Given the description of an element on the screen output the (x, y) to click on. 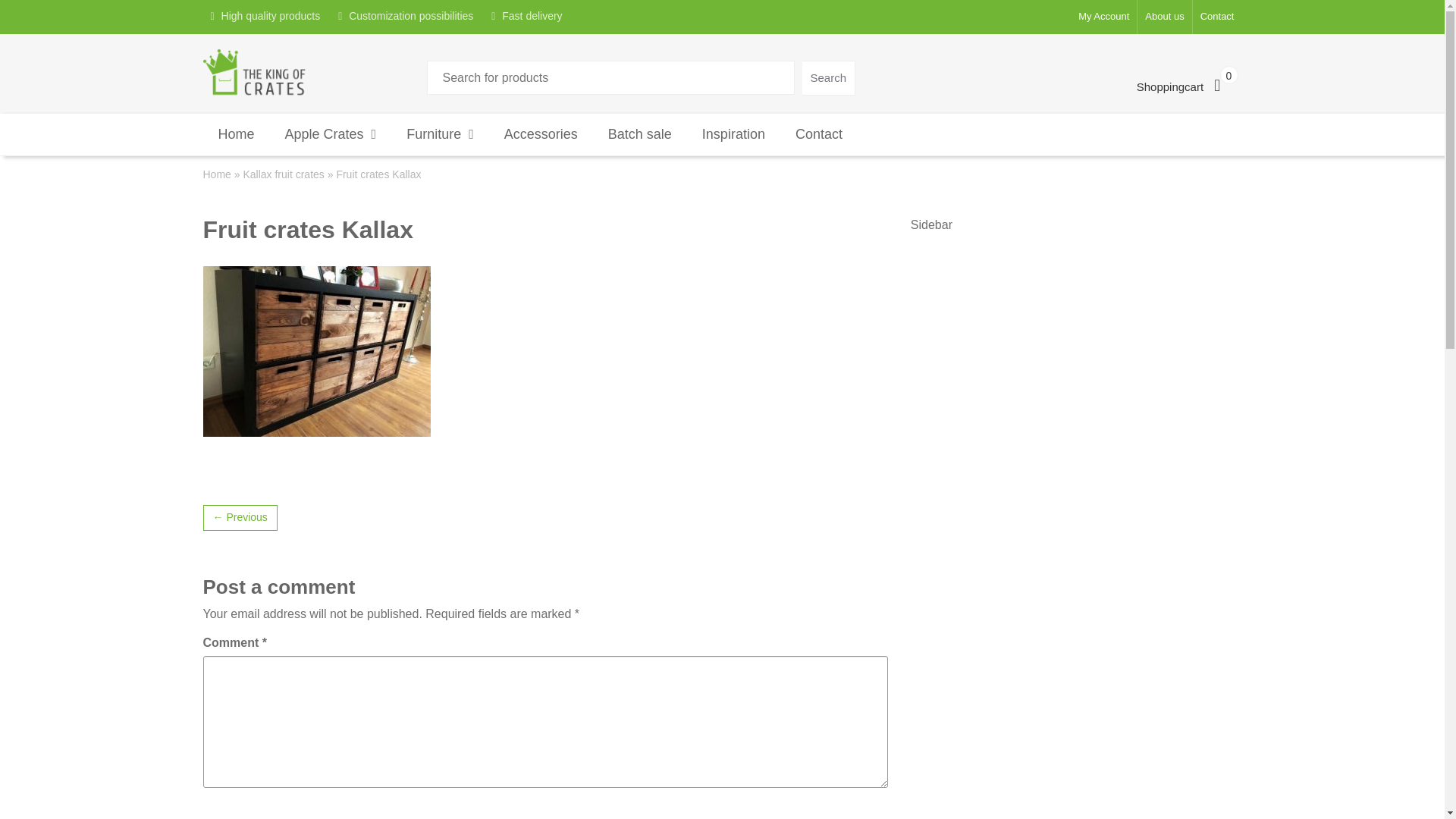
About us (1164, 17)
Furniture (440, 134)
Contact (818, 134)
Inspiration (733, 134)
King of Crates (255, 71)
Search (829, 77)
Accessories (540, 134)
Home (217, 174)
Contact (1216, 17)
Kallax fruit crates (283, 174)
Apple Crates (330, 134)
Shoppingcart (1189, 85)
My Account (1103, 17)
Home (236, 134)
Search (829, 77)
